Given the description of an element on the screen output the (x, y) to click on. 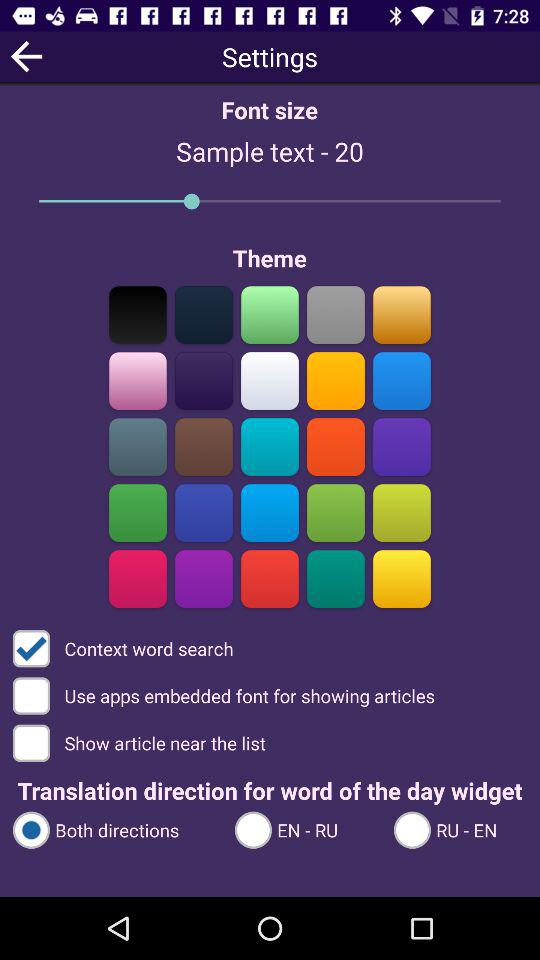
select color (137, 578)
